Given the description of an element on the screen output the (x, y) to click on. 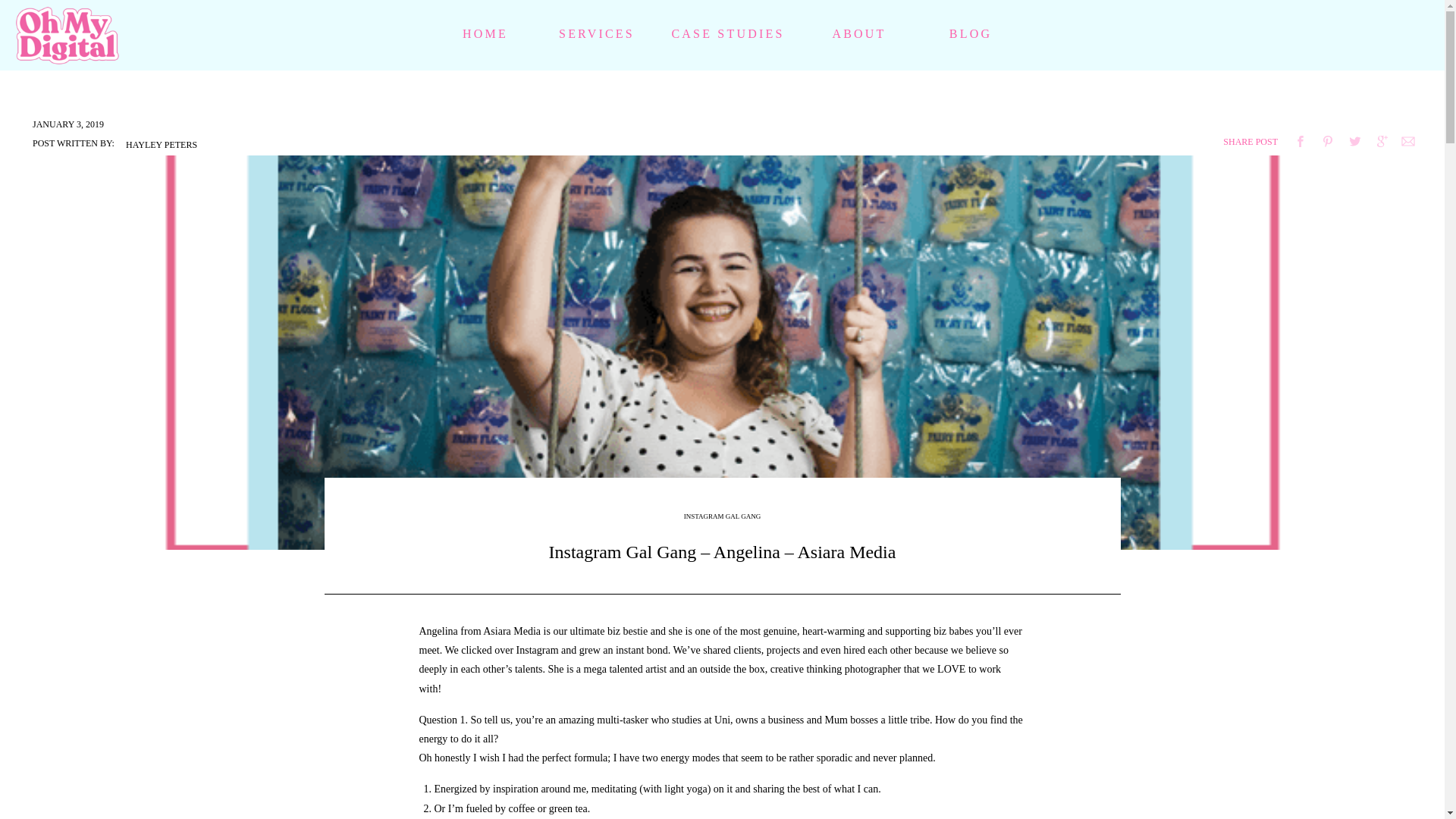
ABOUT (859, 35)
HOME (484, 36)
BLOG (970, 36)
SERVICES (596, 36)
CASE STUDIES (727, 36)
